Given the description of an element on the screen output the (x, y) to click on. 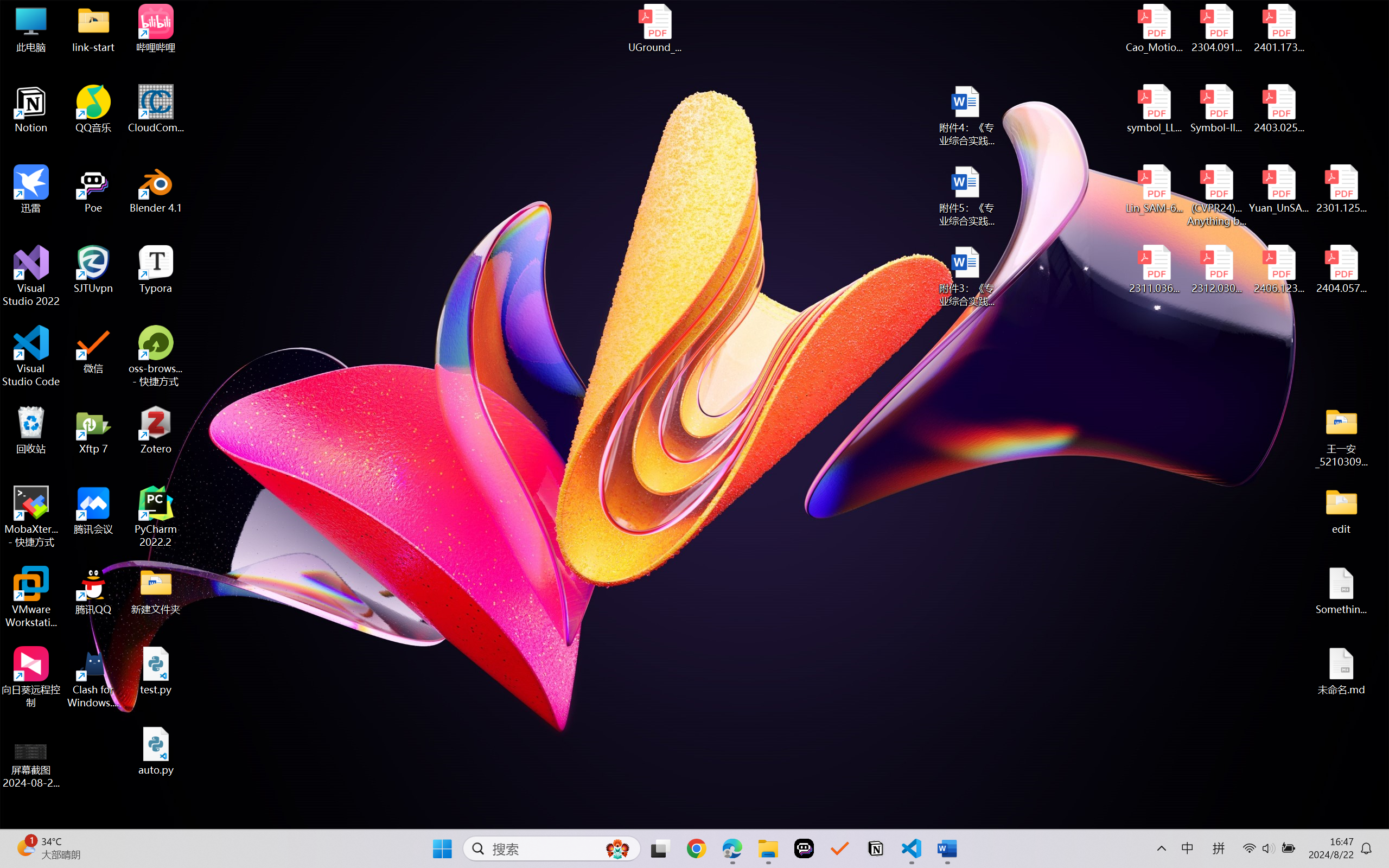
2312.03032v2.pdf (1216, 269)
2311.03658v2.pdf (1154, 269)
Symbol-llm-v2.pdf (1216, 109)
PyCharm 2022.2 (156, 516)
CloudCompare (156, 109)
2304.09121v3.pdf (1216, 28)
2406.12373v2.pdf (1278, 269)
Visual Studio 2022 (31, 276)
